Given the description of an element on the screen output the (x, y) to click on. 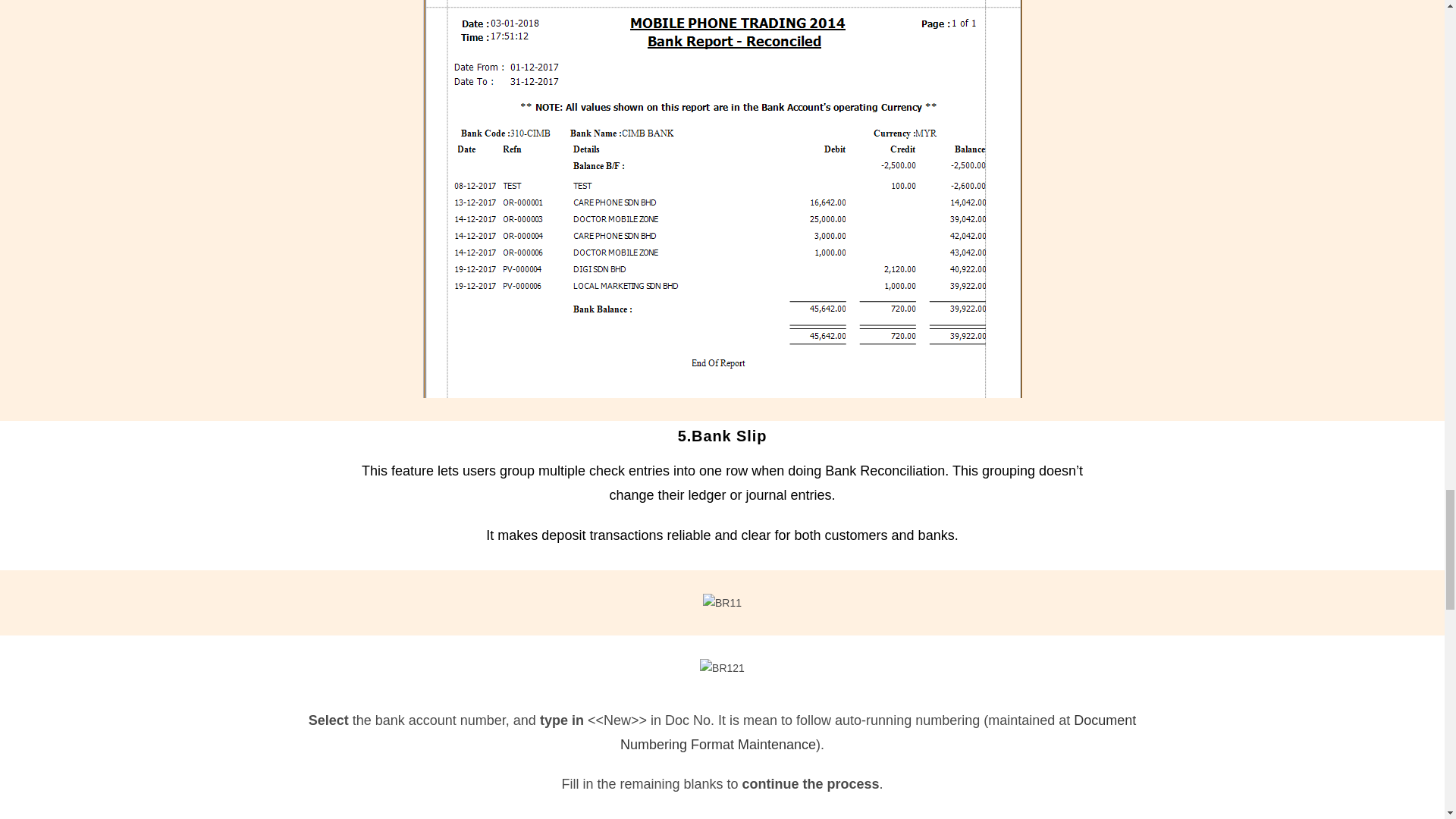
Document Numbering Format Maintenance (877, 732)
BR11 (722, 602)
BR121 (722, 668)
